Given the description of an element on the screen output the (x, y) to click on. 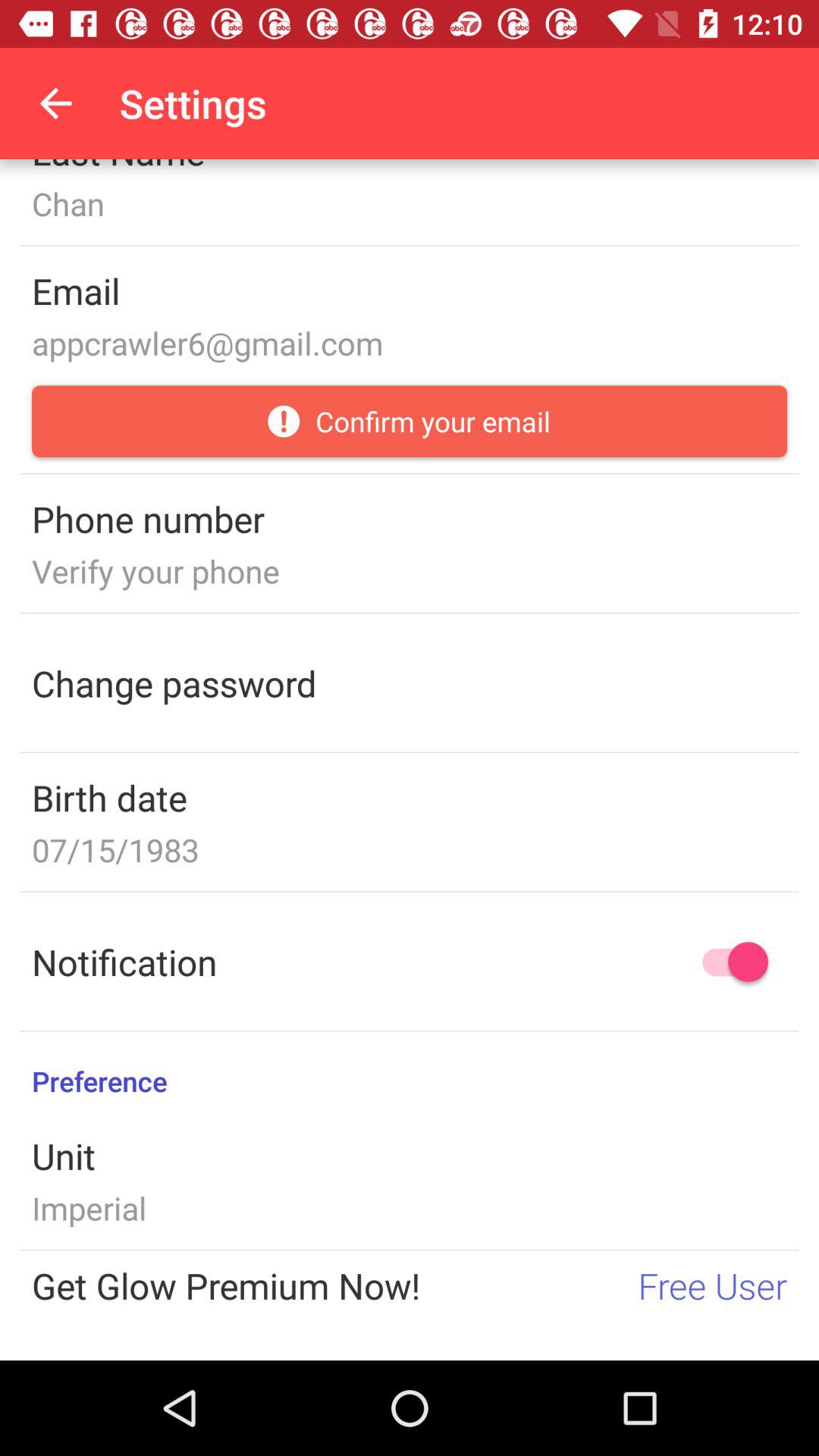
turn on the item to the left of settings icon (55, 103)
